Given the description of an element on the screen output the (x, y) to click on. 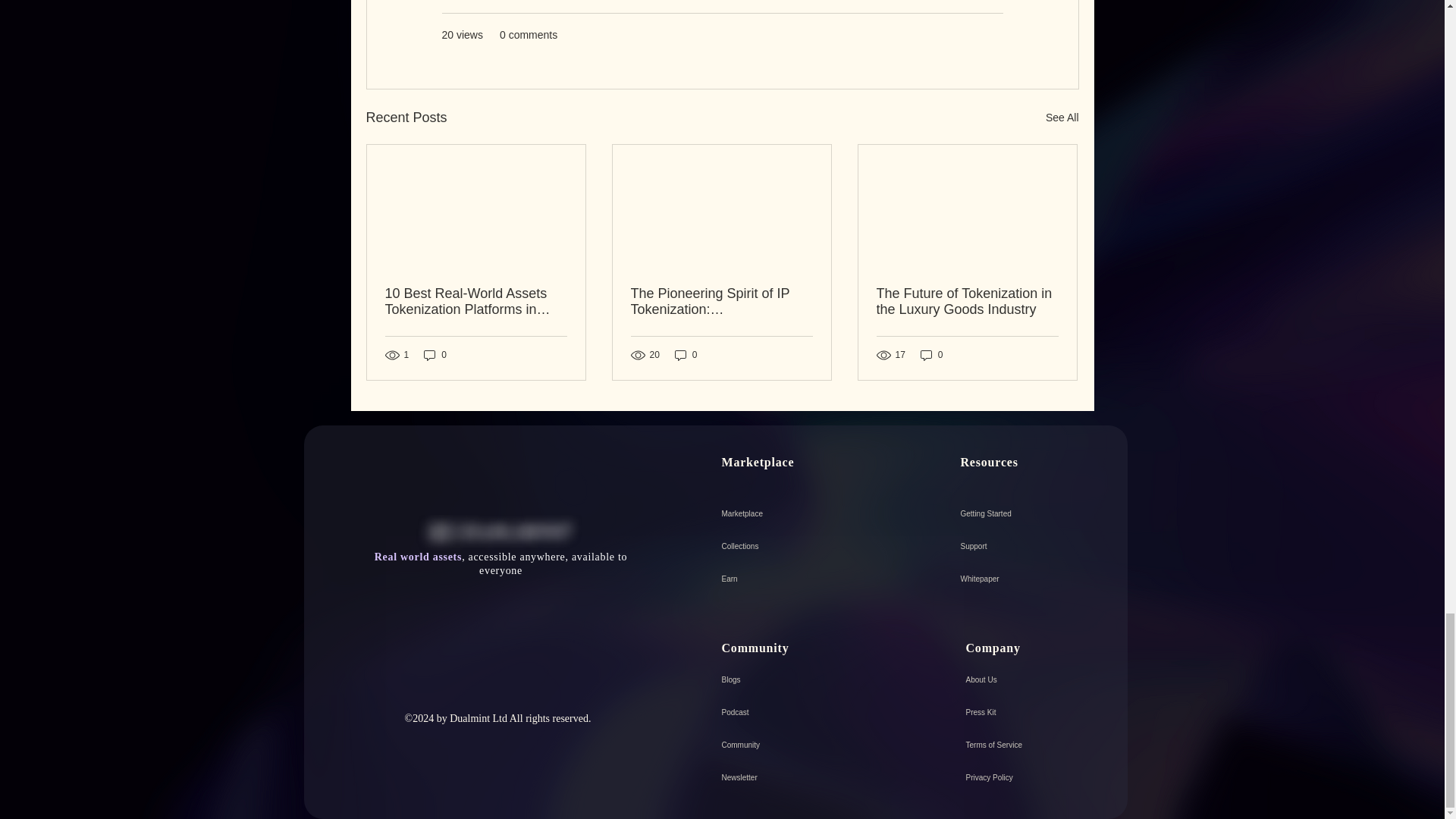
Marketplace (799, 513)
The Future of Tokenization in the Luxury Goods Industry (967, 301)
0 (685, 354)
See All (1061, 117)
Collections (799, 545)
0 (435, 354)
10 Best Real-World Assets Tokenization Platforms in 2024 (476, 301)
0 (931, 354)
Earn (799, 578)
